Given the description of an element on the screen output the (x, y) to click on. 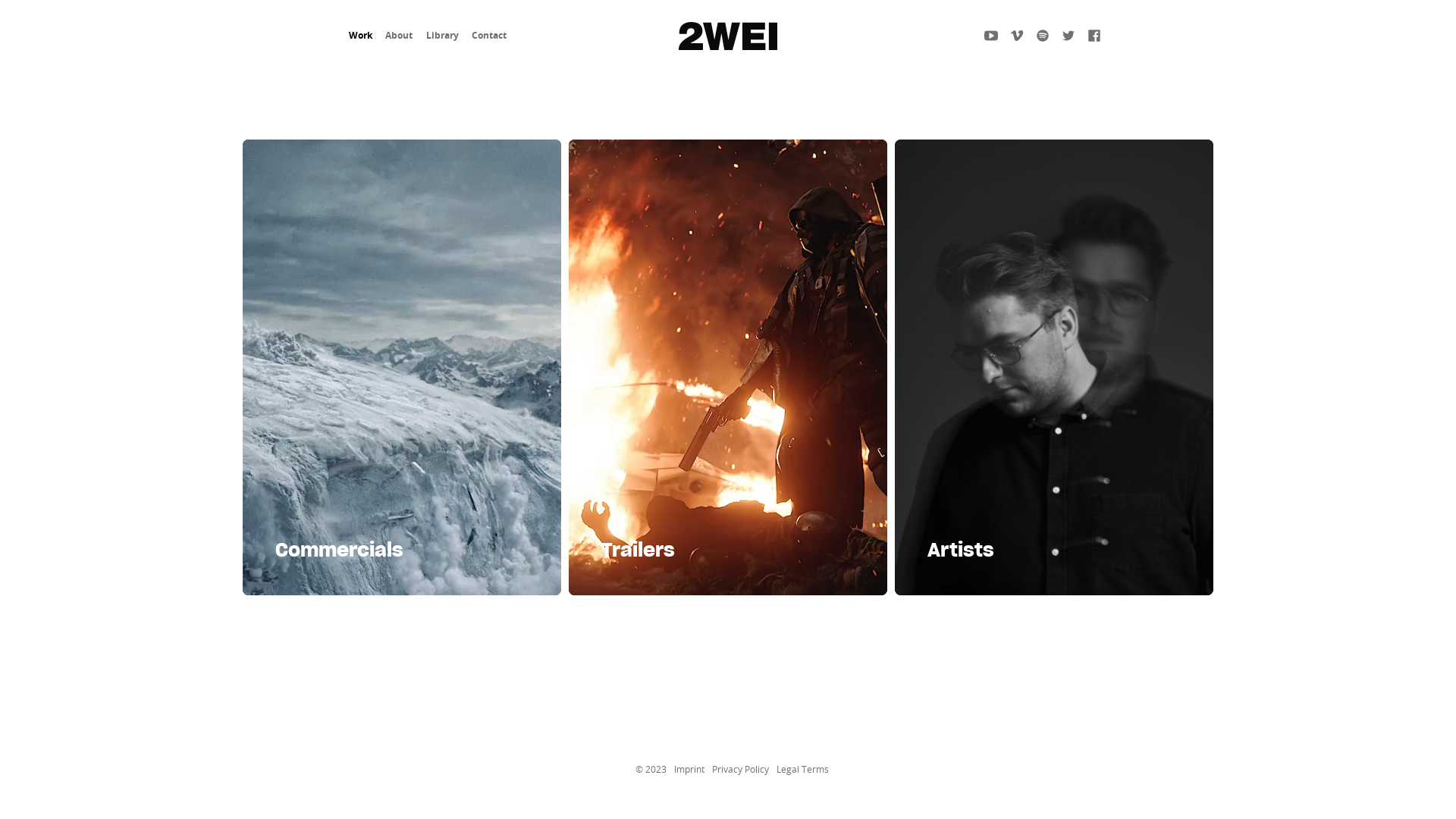
v Element type: text (1016, 35)
Work Element type: text (360, 34)
Legal Terms Element type: text (802, 768)
O Element type: text (1042, 35)
About Element type: text (398, 34)
t Element type: text (1068, 35)
Artists Element type: text (1053, 367)
Privacy Policy Element type: text (740, 768)
Contact Element type: text (488, 34)
Commercials Element type: text (401, 367)
Library Element type: text (442, 34)
Trailers Element type: text (727, 367)
P Element type: text (1094, 35)
H Element type: text (990, 35)
Imprint Element type: text (689, 768)
